Given the description of an element on the screen output the (x, y) to click on. 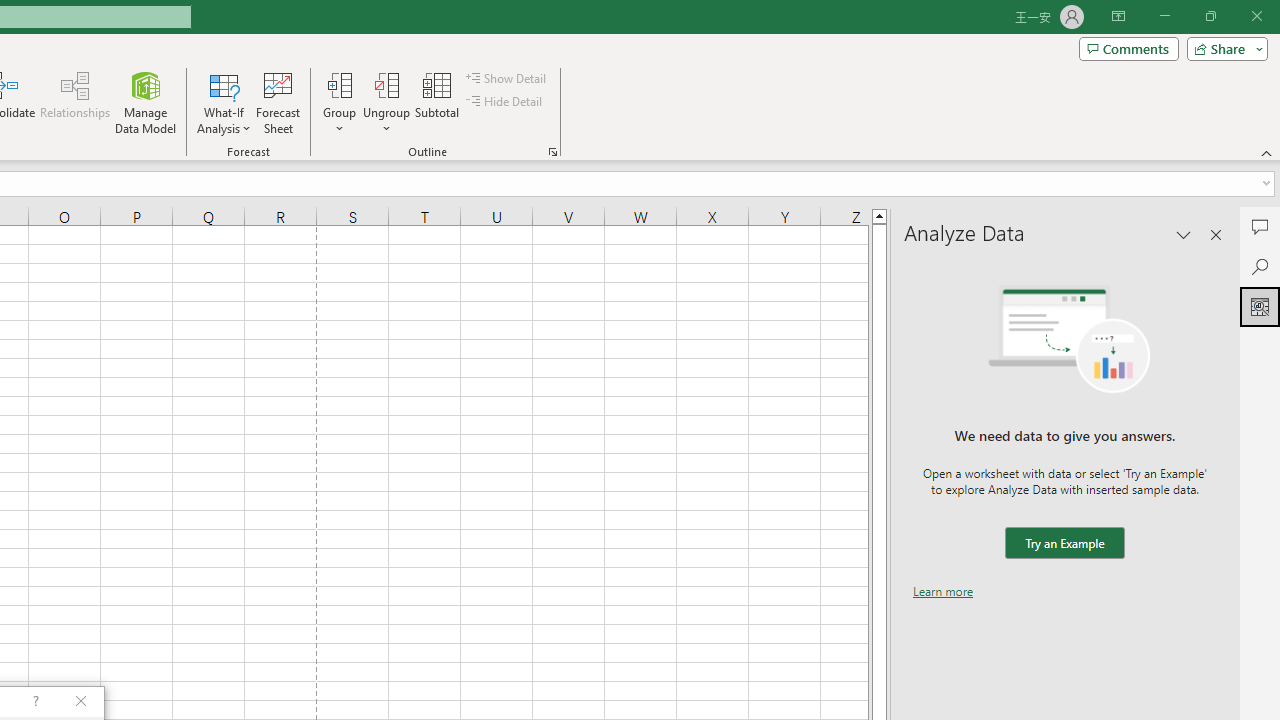
Learn more (943, 591)
We need data to give you answers. Try an Example (1064, 543)
